Given the description of an element on the screen output the (x, y) to click on. 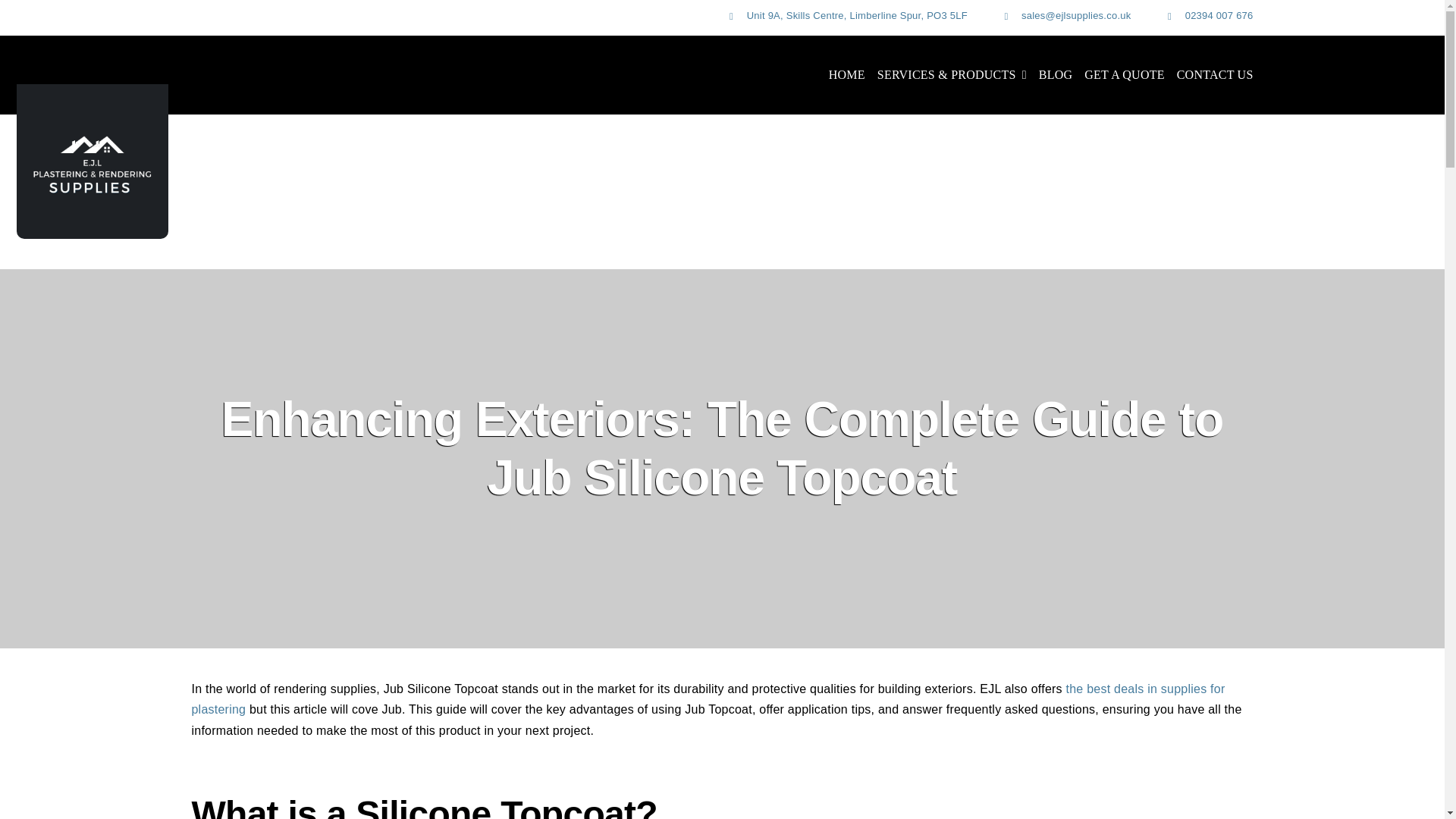
GET A QUOTE (1123, 74)
HOME (846, 74)
BLOG (1056, 74)
the best deals in supplies for plastering (707, 699)
02394 007 676 (1219, 15)
CONTACT US (1214, 74)
